Given the description of an element on the screen output the (x, y) to click on. 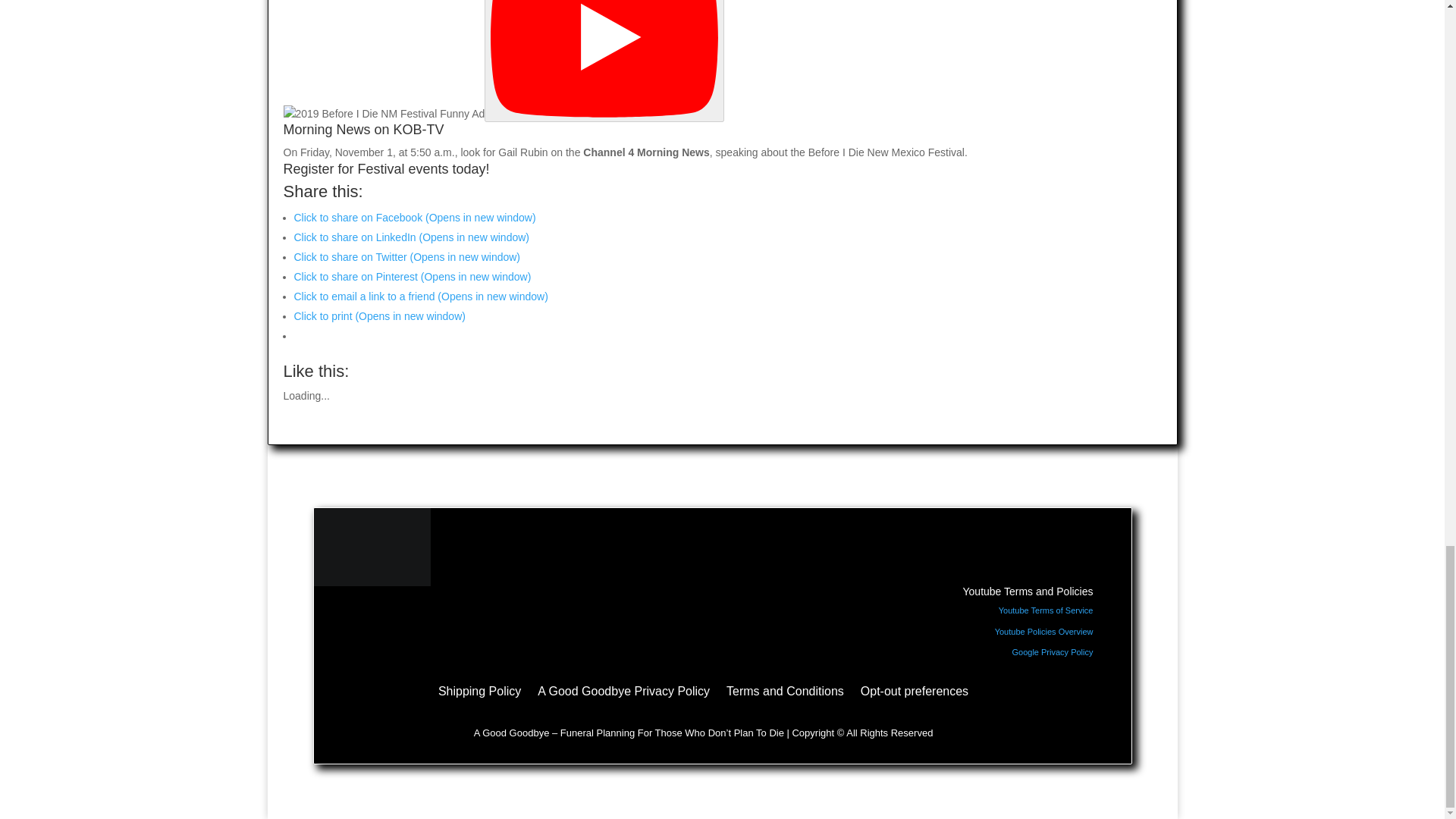
Click to share on LinkedIn (411, 236)
Click to share on Twitter (407, 256)
Click to email a link to a friend (421, 296)
Click to share on Pinterest (412, 276)
Click to print (379, 316)
Click to share on Facebook (414, 217)
